Given the description of an element on the screen output the (x, y) to click on. 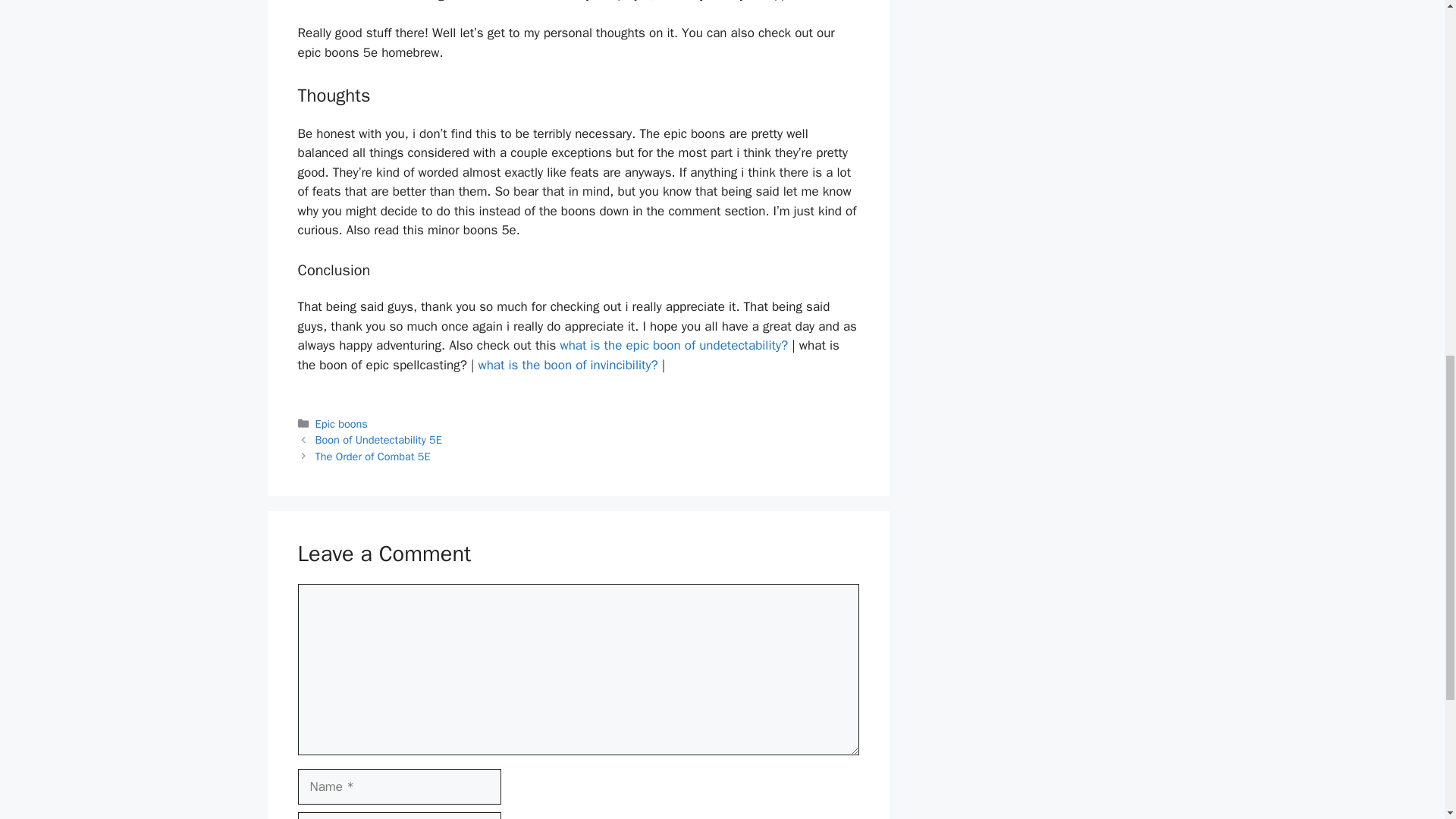
The Order of Combat 5E (372, 456)
what is the epic boon of undetectability? (673, 344)
Scroll back to top (1406, 720)
Epic boons (341, 423)
Boon of Undetectability 5E (378, 439)
what is the boon of invincibility? (567, 365)
